Given the description of an element on the screen output the (x, y) to click on. 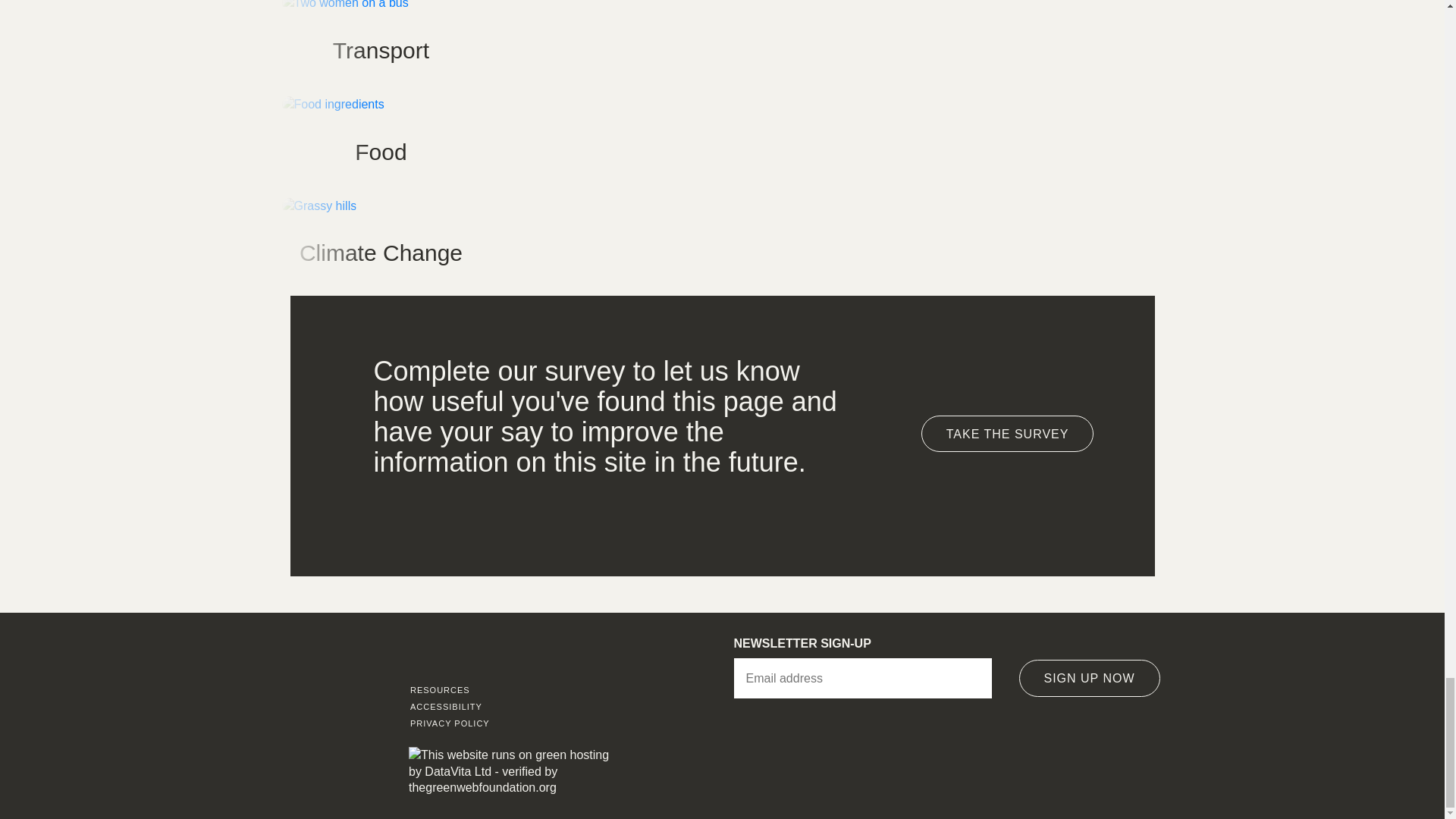
Food (381, 143)
SIGN UP NOW (1089, 678)
ACCESSIBILITY (520, 706)
Climate Change (381, 244)
PRIVACY POLICY (520, 723)
Net Zero Nation (511, 652)
RESOURCES (520, 689)
Transport (381, 43)
TAKE THE SURVEY (1007, 433)
